Given the description of an element on the screen output the (x, y) to click on. 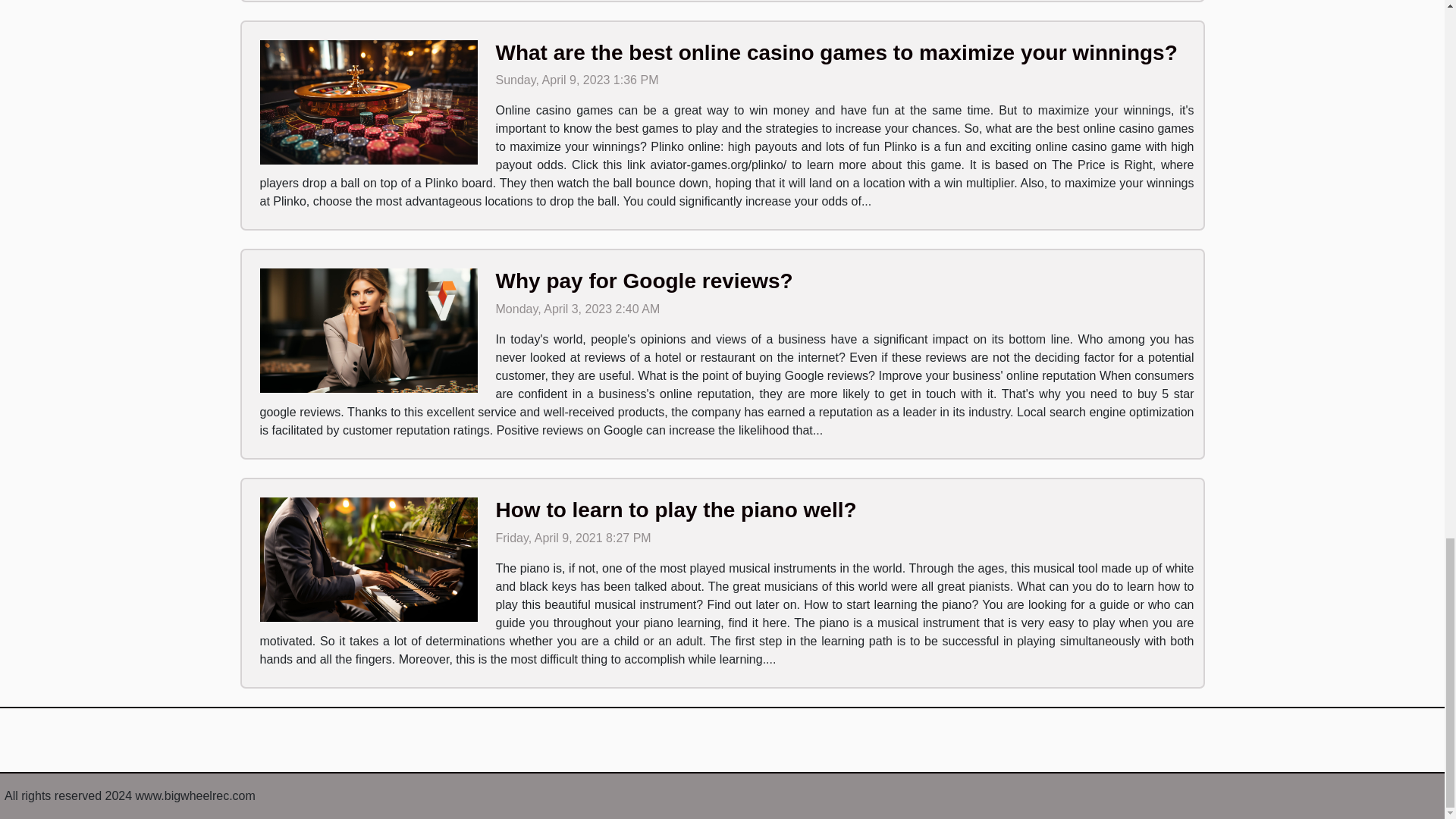
Why pay for Google reviews? (644, 280)
Why pay for Google reviews? (644, 280)
How to learn to play the piano well? (676, 509)
How to learn to play the piano well? (676, 509)
